Given the description of an element on the screen output the (x, y) to click on. 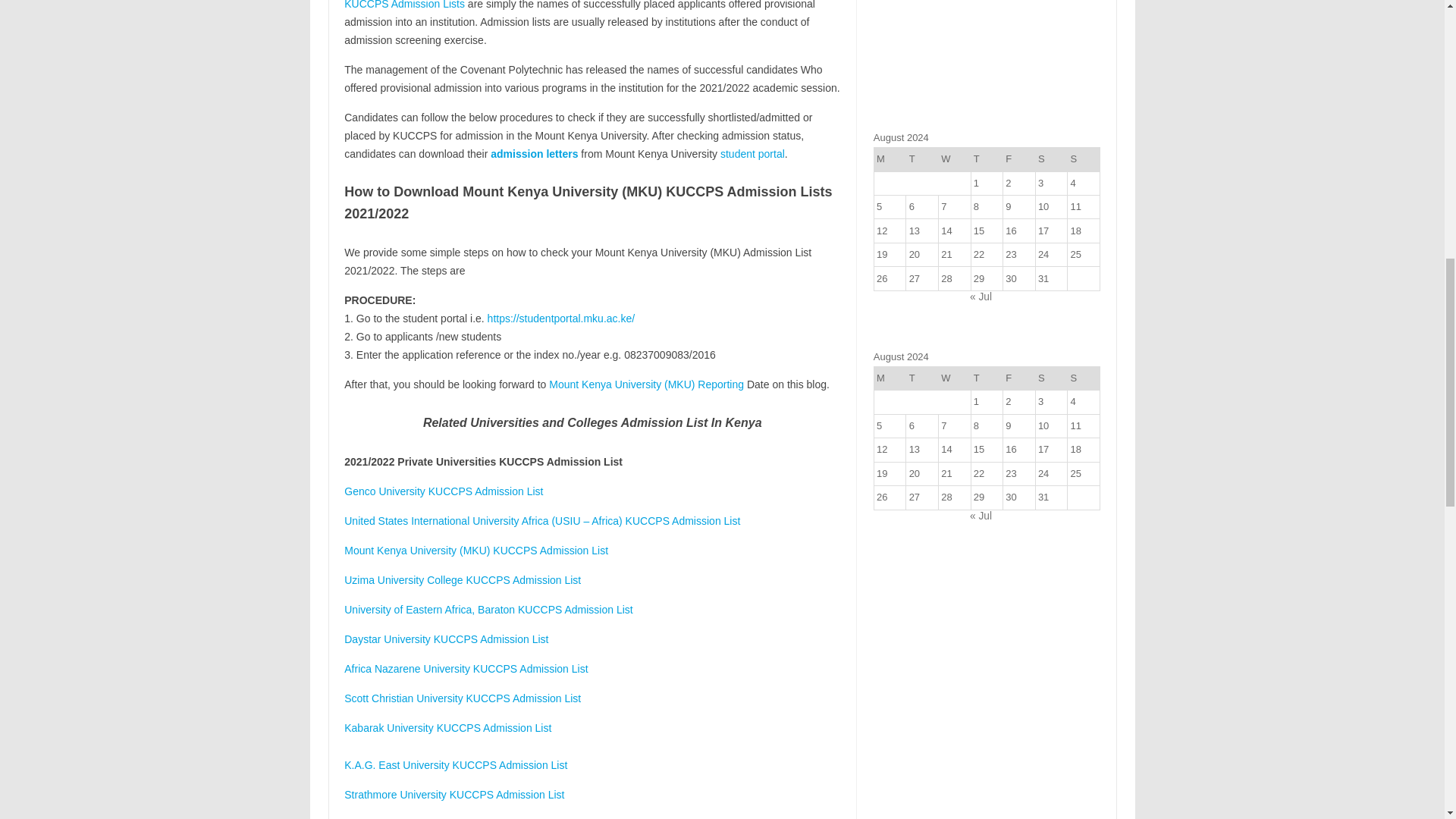
Uzima University College KUCCPS Admission List (461, 580)
Daystar University KUCCPS Admission List (445, 639)
Genco University KUCCPS Admission List (443, 491)
Sunday (1083, 159)
Friday (1019, 159)
K.A.G. East University KUCCPS Admission List (455, 765)
Advertisement (986, 56)
Saturday (1051, 159)
Strathmore University KUCCPS Admission List (453, 794)
Scott Christian University KUCCPS Admission List (461, 698)
University of Eastern Africa, Baraton KUCCPS Admission List (487, 609)
Thursday (987, 159)
Kabarak University KUCCPS Admission List (447, 727)
student portal (752, 153)
Africa Nazarene University KUCCPS Admission List (465, 668)
